Given the description of an element on the screen output the (x, y) to click on. 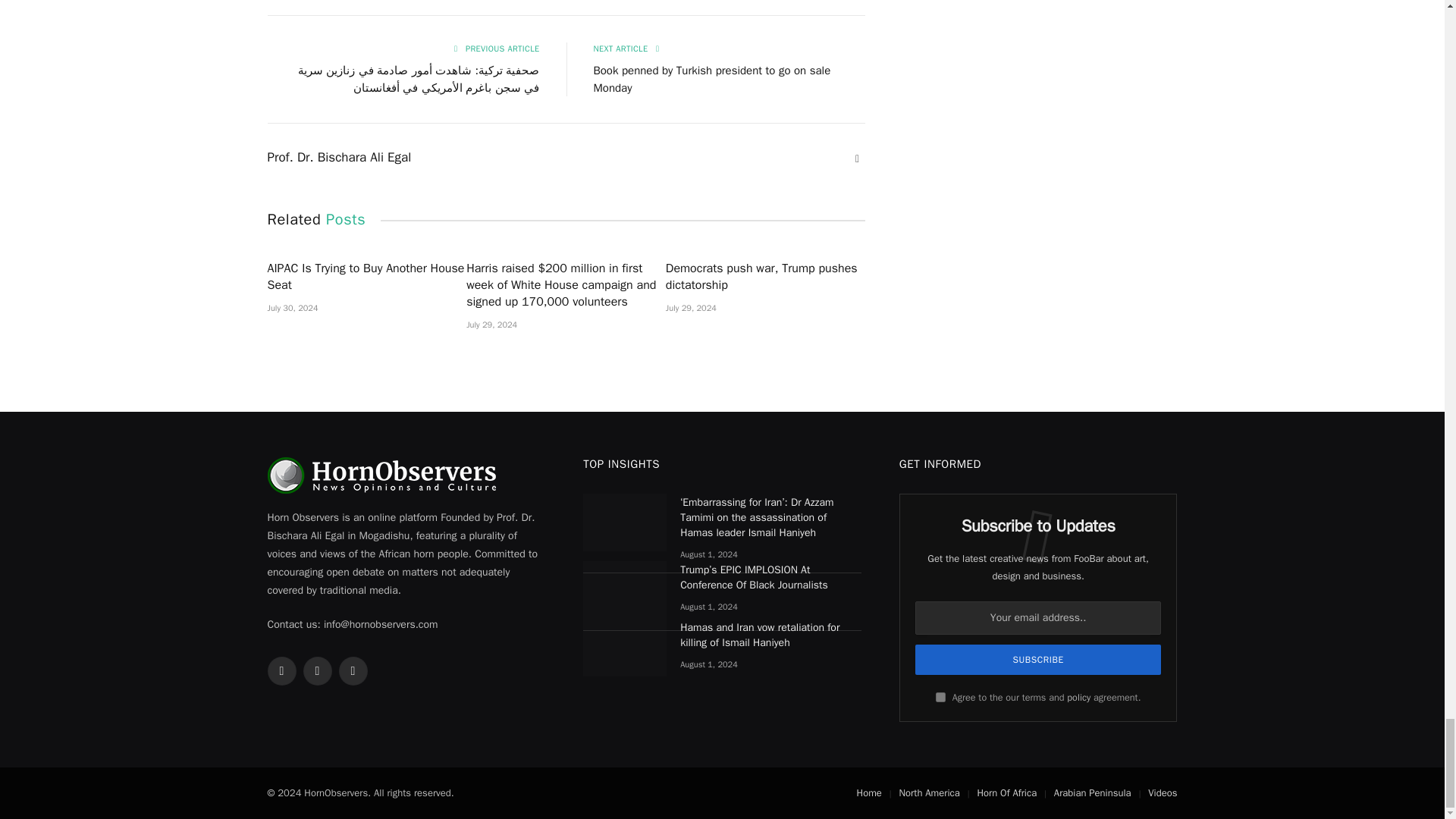
Subscribe (1038, 659)
on (940, 696)
